Given the description of an element on the screen output the (x, y) to click on. 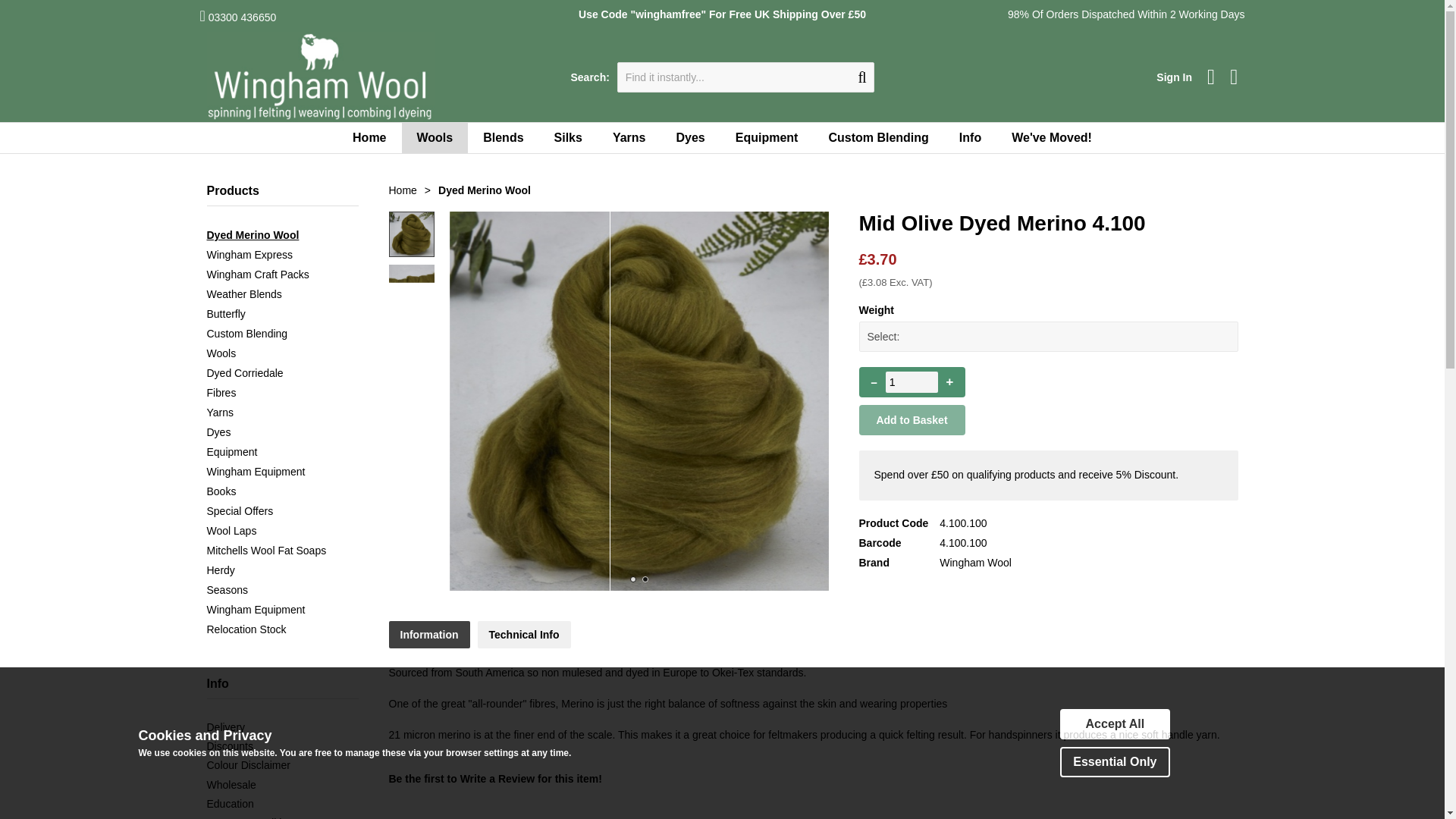
Wools (434, 137)
Sign In (1174, 77)
Home (369, 137)
Silks (567, 137)
Yarns (628, 137)
Blends (502, 137)
1 (912, 382)
